Given the description of an element on the screen output the (x, y) to click on. 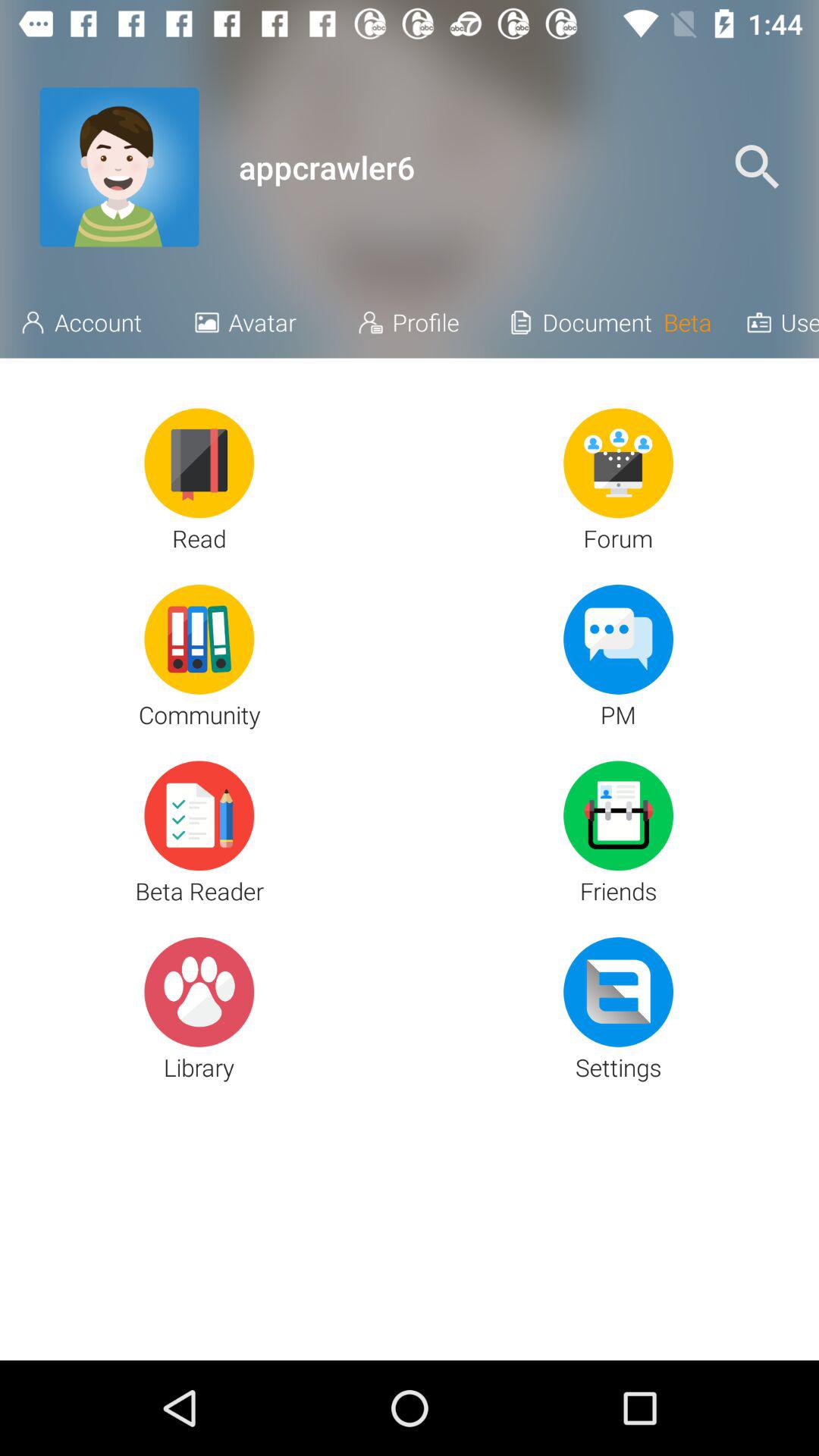
choose the icon above the username icon (757, 167)
